Given the description of an element on the screen output the (x, y) to click on. 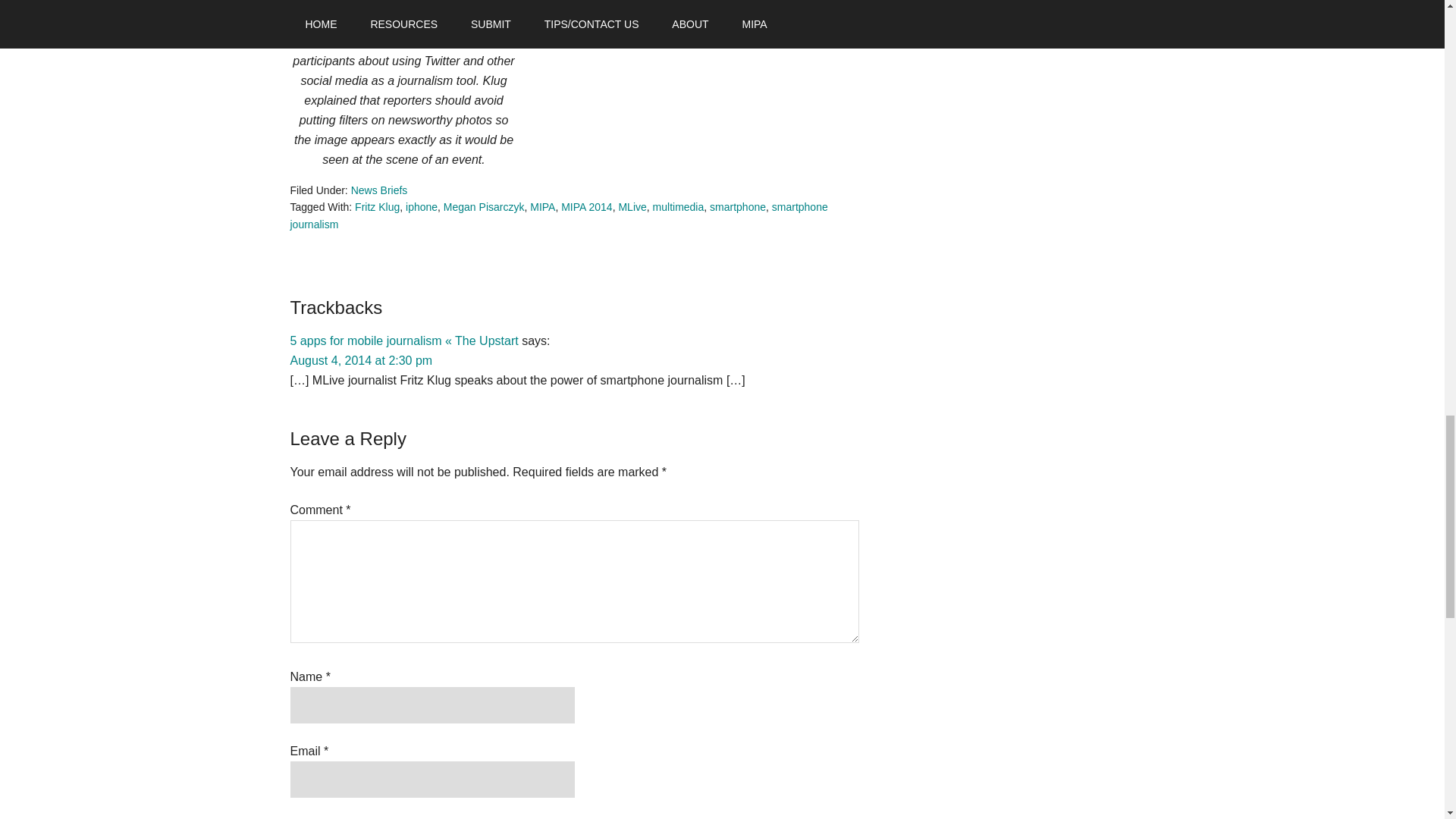
Fritz Klug (376, 206)
iphone (422, 206)
News Briefs (378, 190)
